Given the description of an element on the screen output the (x, y) to click on. 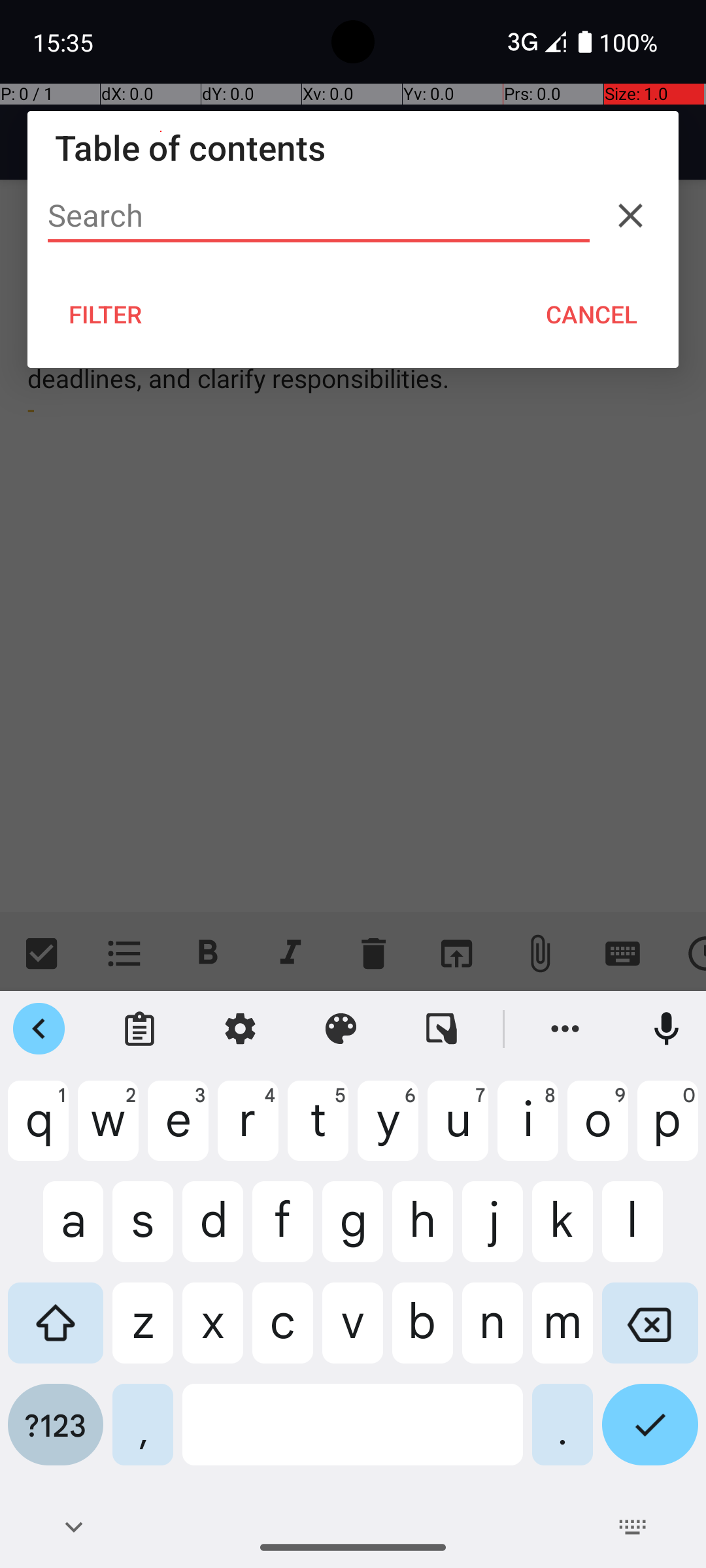
Table of contents Element type: android.widget.TextView (352, 147)
FILTER Element type: android.widget.Button (105, 313)
